Given the description of an element on the screen output the (x, y) to click on. 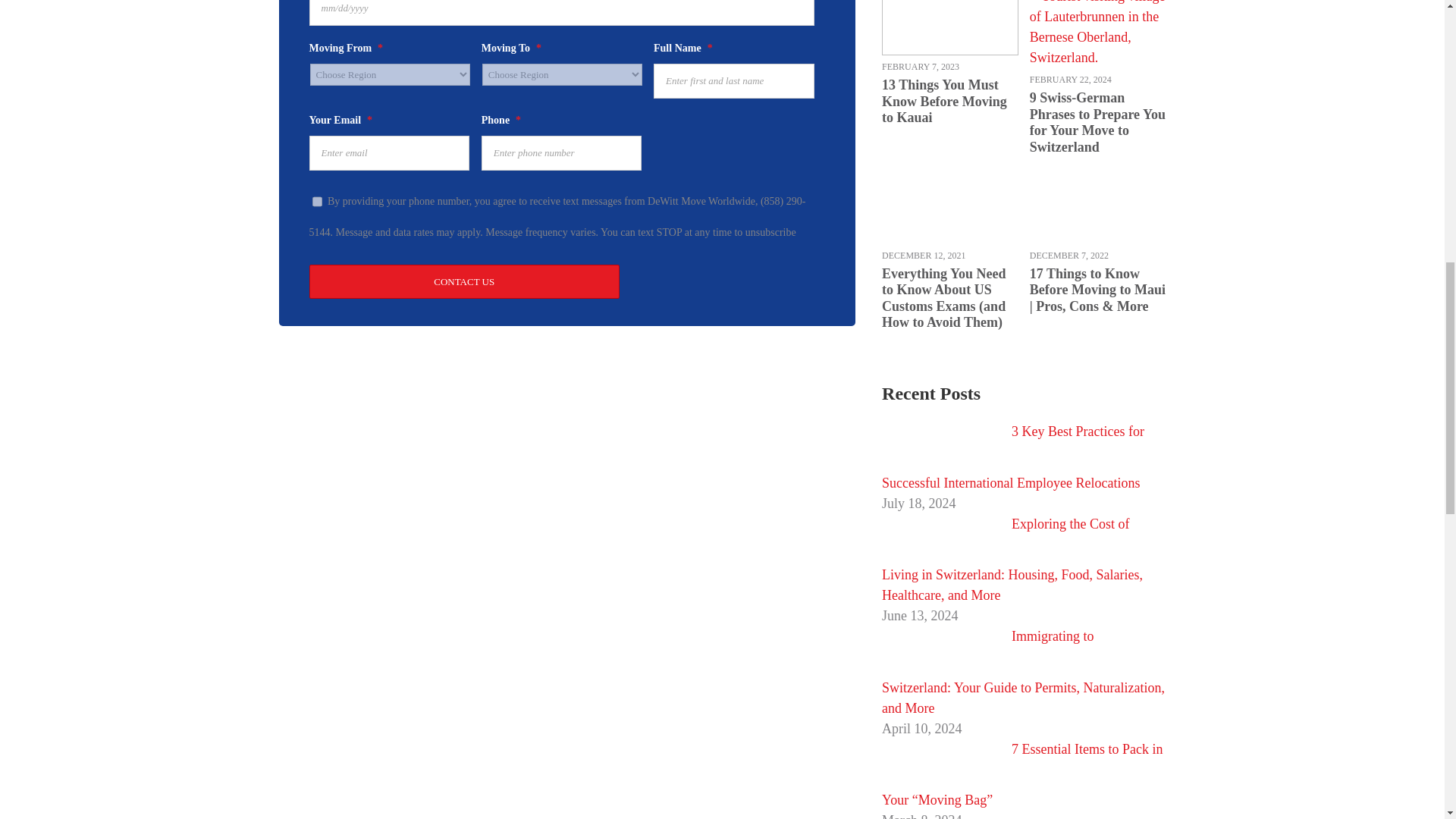
Contact Us (464, 281)
13 Things You Must Know Before Moving to Kauai (949, 101)
